Given the description of an element on the screen output the (x, y) to click on. 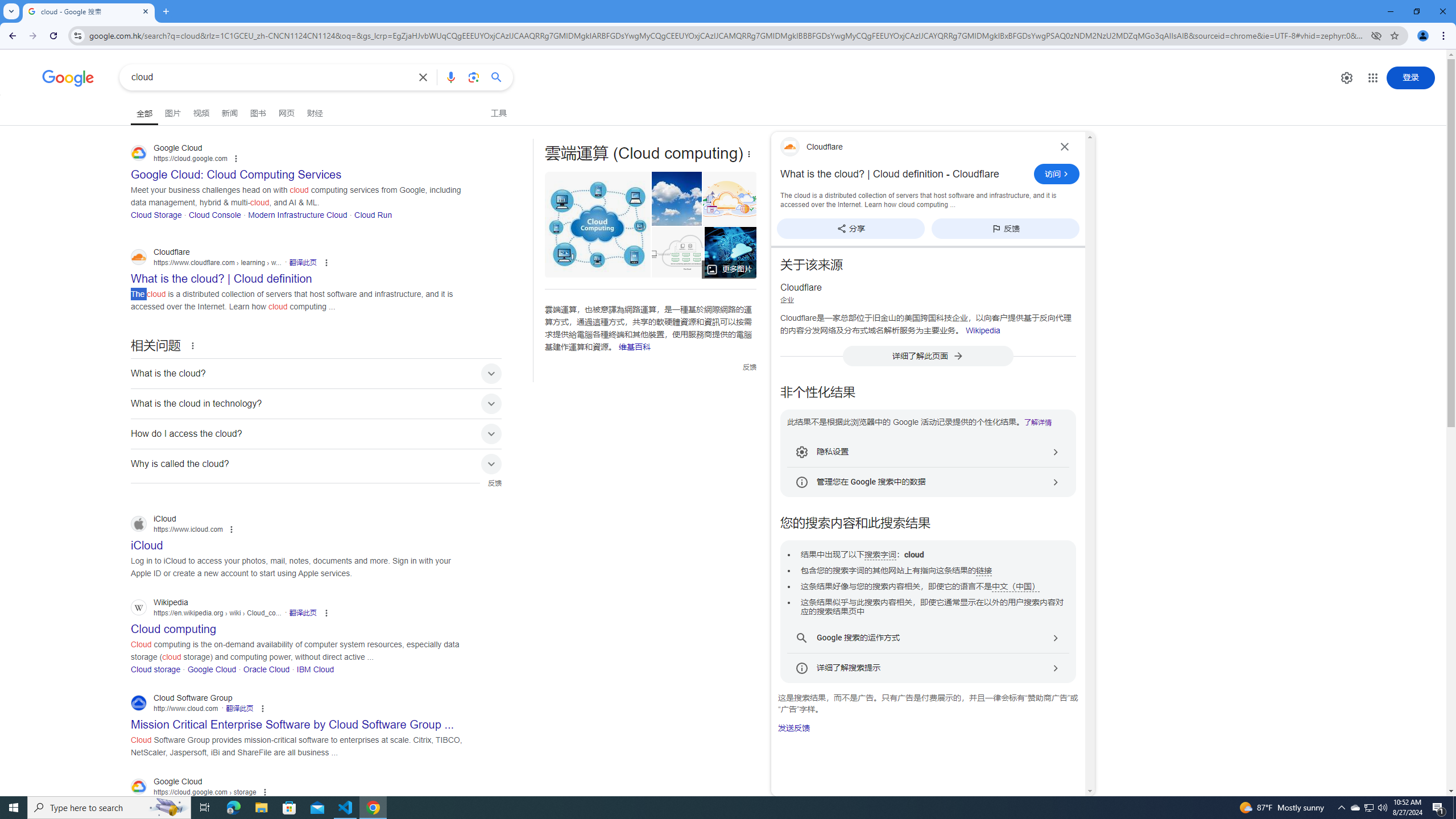
What is the cloud? | Cloud definition | Cloudflare (679, 251)
